Given the description of an element on the screen output the (x, y) to click on. 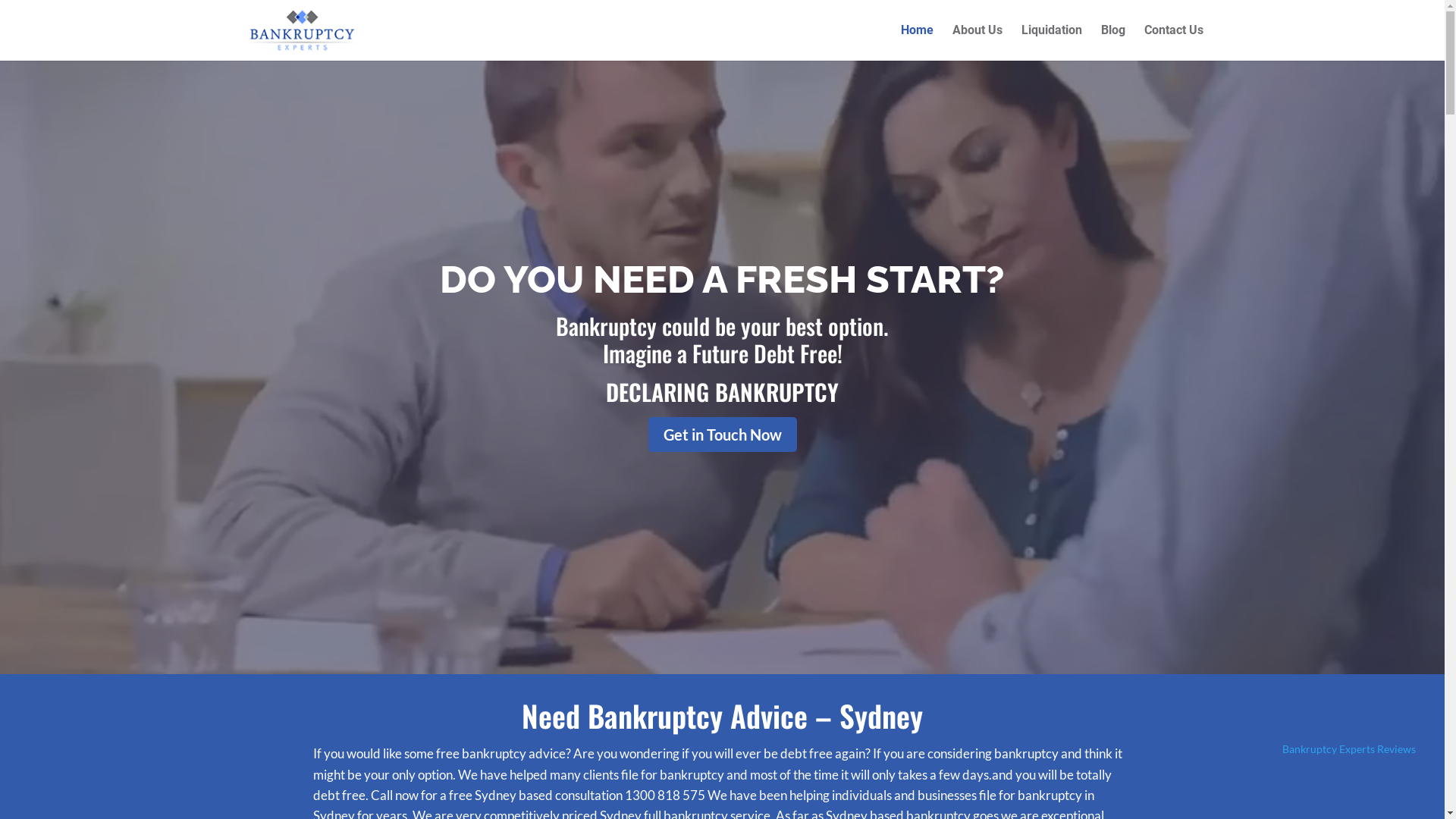
Liquidation Element type: text (1051, 42)
Contact Us Element type: text (1173, 42)
Bankruptcy Experts Reviews Element type: text (1348, 749)
About Us Element type: text (977, 42)
Get in Touch Now Element type: text (721, 434)
Blog Element type: text (1113, 42)
Home Element type: text (916, 42)
DECLARING BANKRUPTCY Element type: text (721, 391)
